Given the description of an element on the screen output the (x, y) to click on. 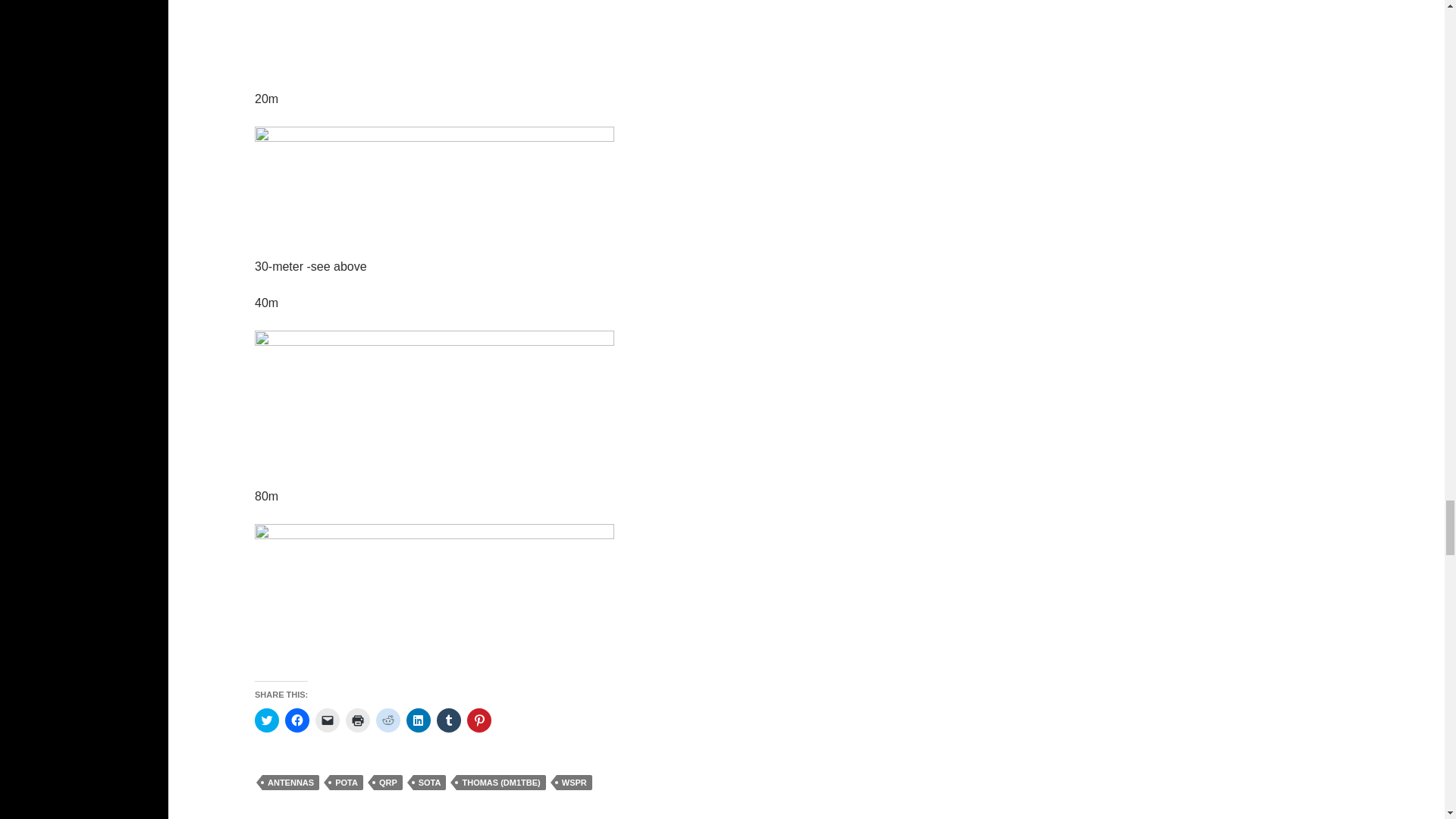
Click to share on LinkedIn (418, 720)
Click to share on Twitter (266, 720)
Click to print (357, 720)
Click to share on Pinterest (479, 720)
Click to email a link to a friend (327, 720)
Click to share on Facebook (296, 720)
Click to share on Tumblr (448, 720)
Click to share on Reddit (387, 720)
